Given the description of an element on the screen output the (x, y) to click on. 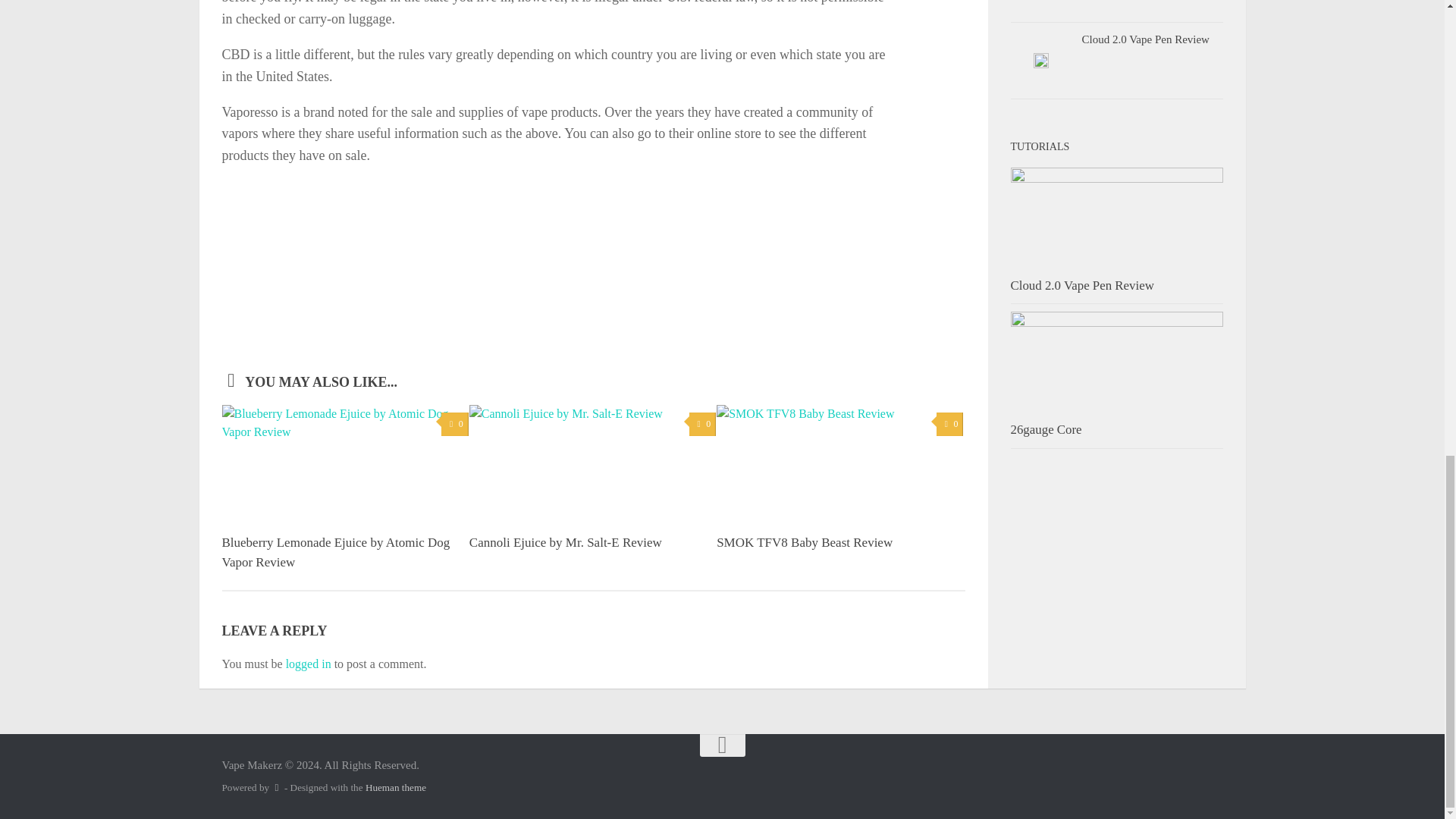
logged in (308, 663)
SMOK TFV8 Baby Beast Review (804, 542)
Cannoli Ejuice by Mr. Salt-E Review (565, 542)
Hueman theme (395, 787)
0 (702, 423)
0 (949, 423)
Powered by WordPress (275, 787)
0 (454, 423)
Blueberry Lemonade Ejuice by Atomic Dog Vapor Review (335, 552)
